Given the description of an element on the screen output the (x, y) to click on. 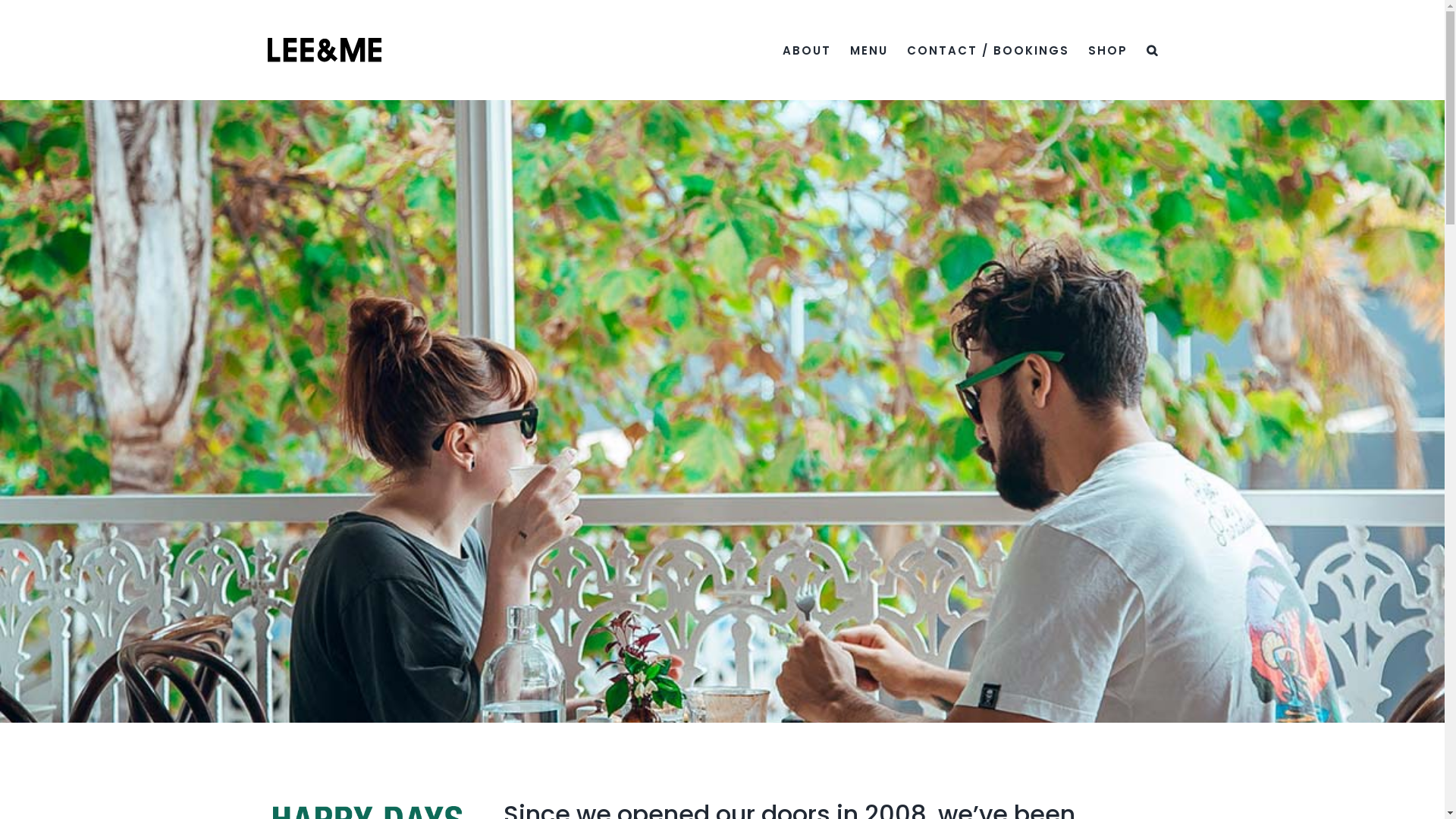
ABOUT Element type: text (806, 50)
CONTACT / BOOKINGS Element type: text (987, 50)
MENU Element type: text (868, 50)
SHOP Element type: text (1106, 50)
Search Element type: hover (1152, 50)
